Given the description of an element on the screen output the (x, y) to click on. 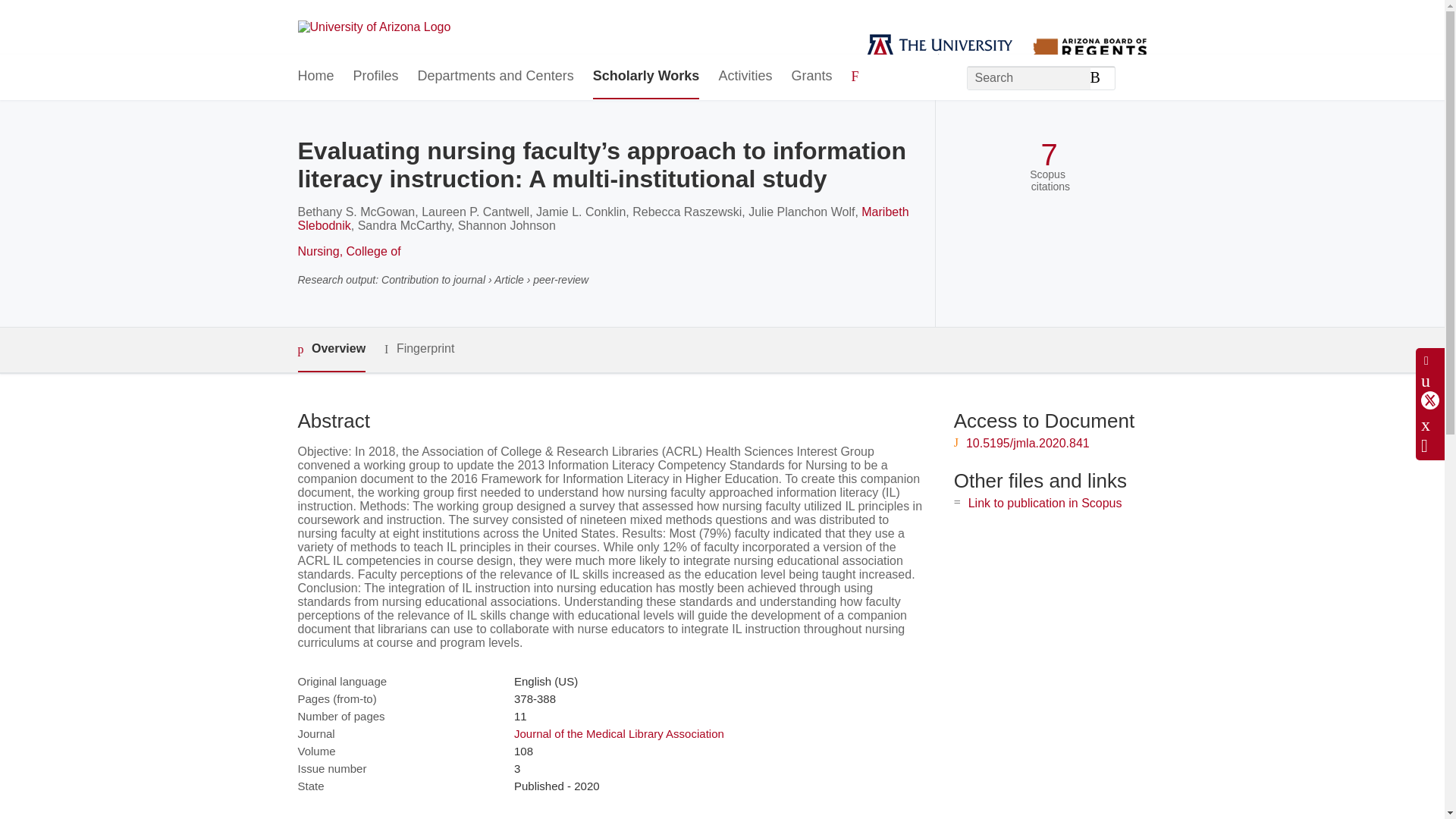
University of Arizona Home (373, 27)
Profiles (375, 76)
Link to publication in Scopus (1045, 502)
Scholarly Works (646, 76)
Maribeth Slebodnik (602, 218)
Fingerprint (419, 349)
Nursing, College of (348, 250)
Journal of the Medical Library Association (618, 733)
Activities (744, 76)
